Given the description of an element on the screen output the (x, y) to click on. 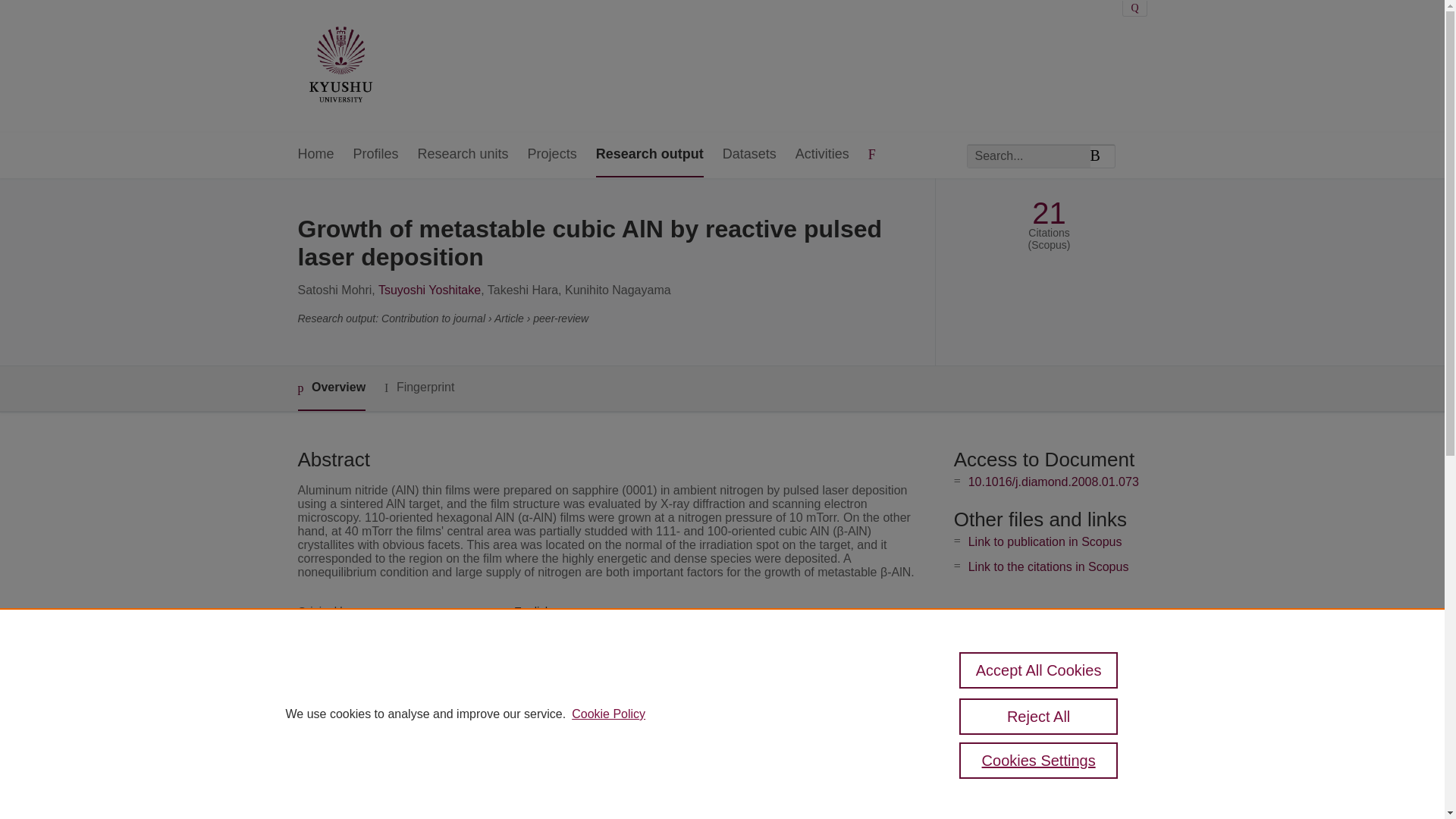
Research units (462, 154)
Link to the citations in Scopus (1048, 566)
Profiles (375, 154)
Activities (821, 154)
Diamond and Related Materials (592, 662)
Fingerprint (419, 387)
21 (1048, 212)
Link to publication in Scopus (1045, 541)
Datasets (749, 154)
Overview (331, 388)
Projects (551, 154)
Tsuyoshi Yoshitake (429, 289)
Research output (649, 154)
